Given the description of an element on the screen output the (x, y) to click on. 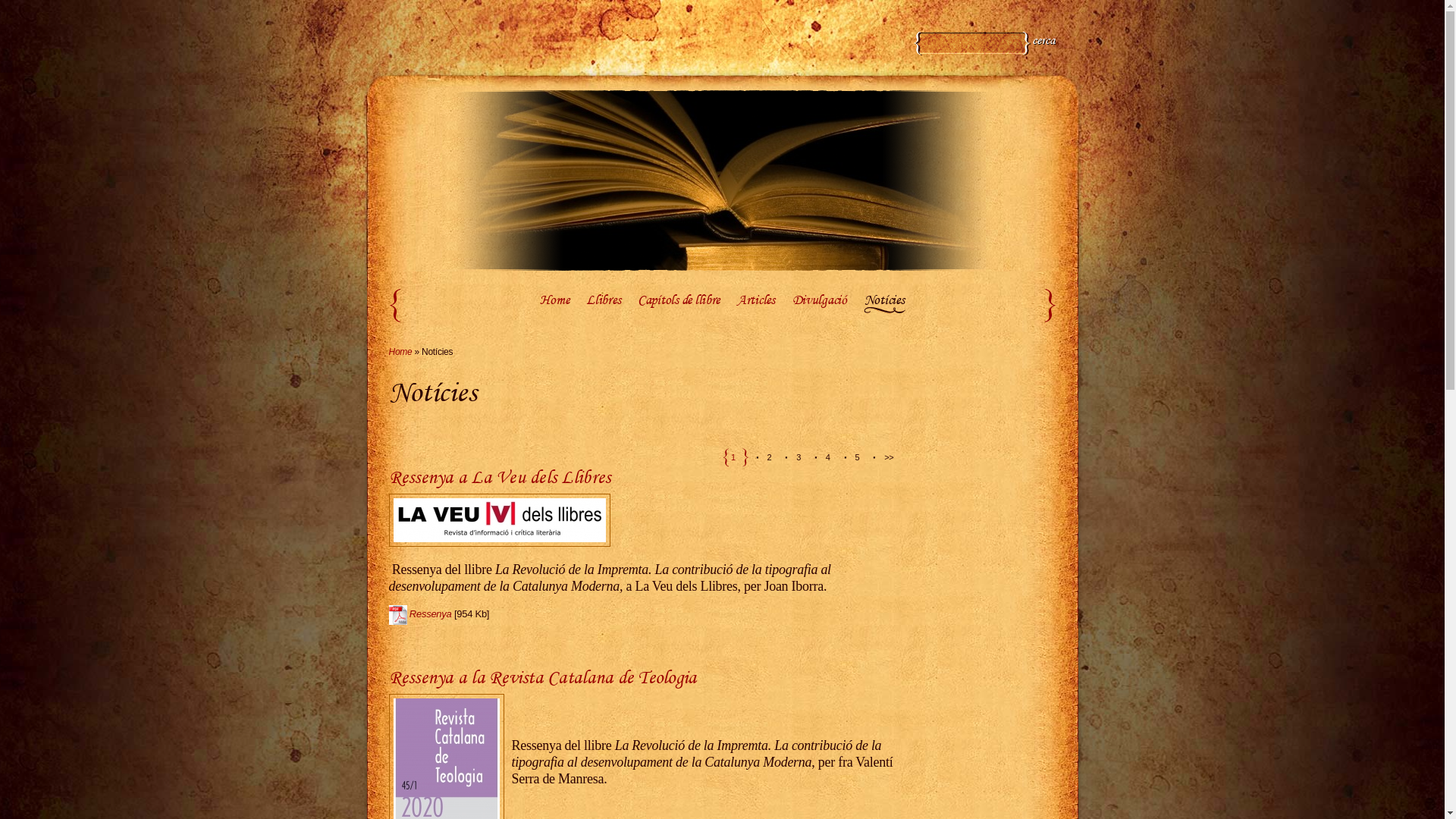
4 Element type: text (826, 456)
Articles Element type: text (755, 303)
>> Element type: text (882, 456)
Home Element type: text (554, 303)
Ressenya Element type: text (430, 613)
Llibres Element type: text (602, 303)
3 Element type: text (797, 456)
Home Element type: text (399, 351)
Cerca Element type: text (1042, 41)
5 Element type: text (856, 456)
2 Element type: text (768, 456)
